Given the description of an element on the screen output the (x, y) to click on. 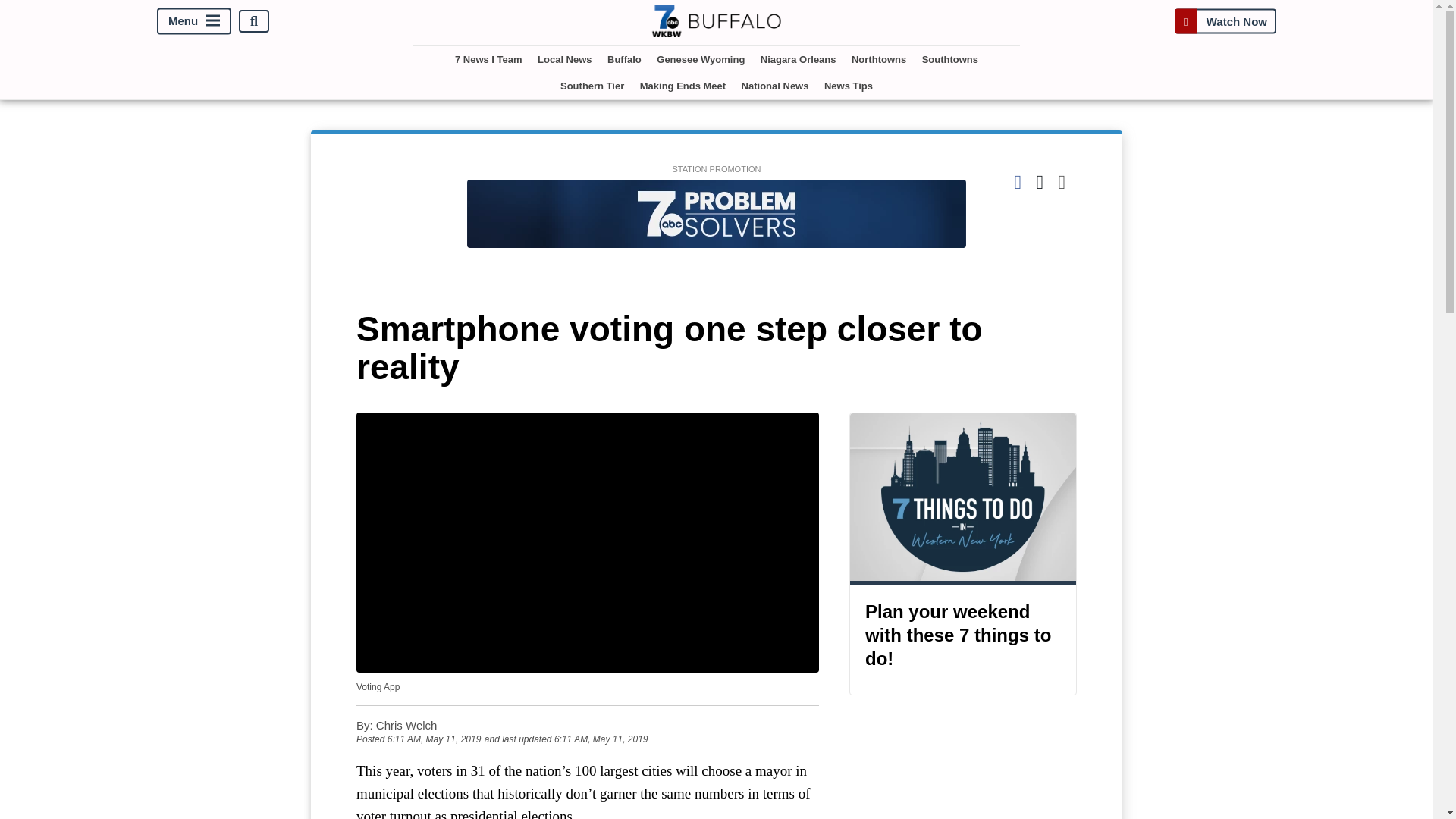
Watch Now (1224, 21)
Menu (194, 21)
